Given the description of an element on the screen output the (x, y) to click on. 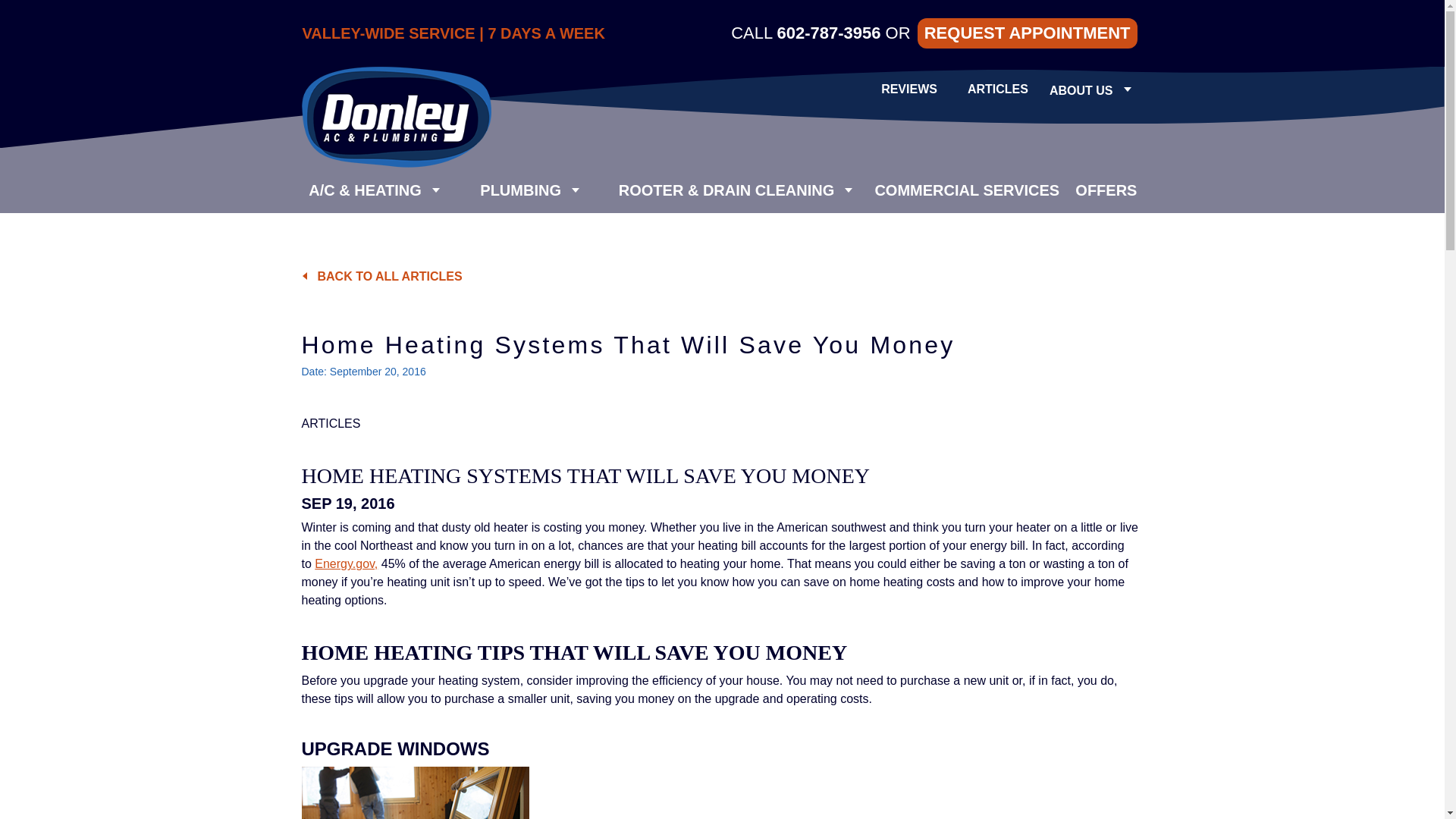
REVIEWS (909, 88)
REQUEST APPOINTMENT (1027, 33)
ABOUT US (1081, 90)
ARTICLES (997, 88)
602-787-3956 (828, 32)
